Given the description of an element on the screen output the (x, y) to click on. 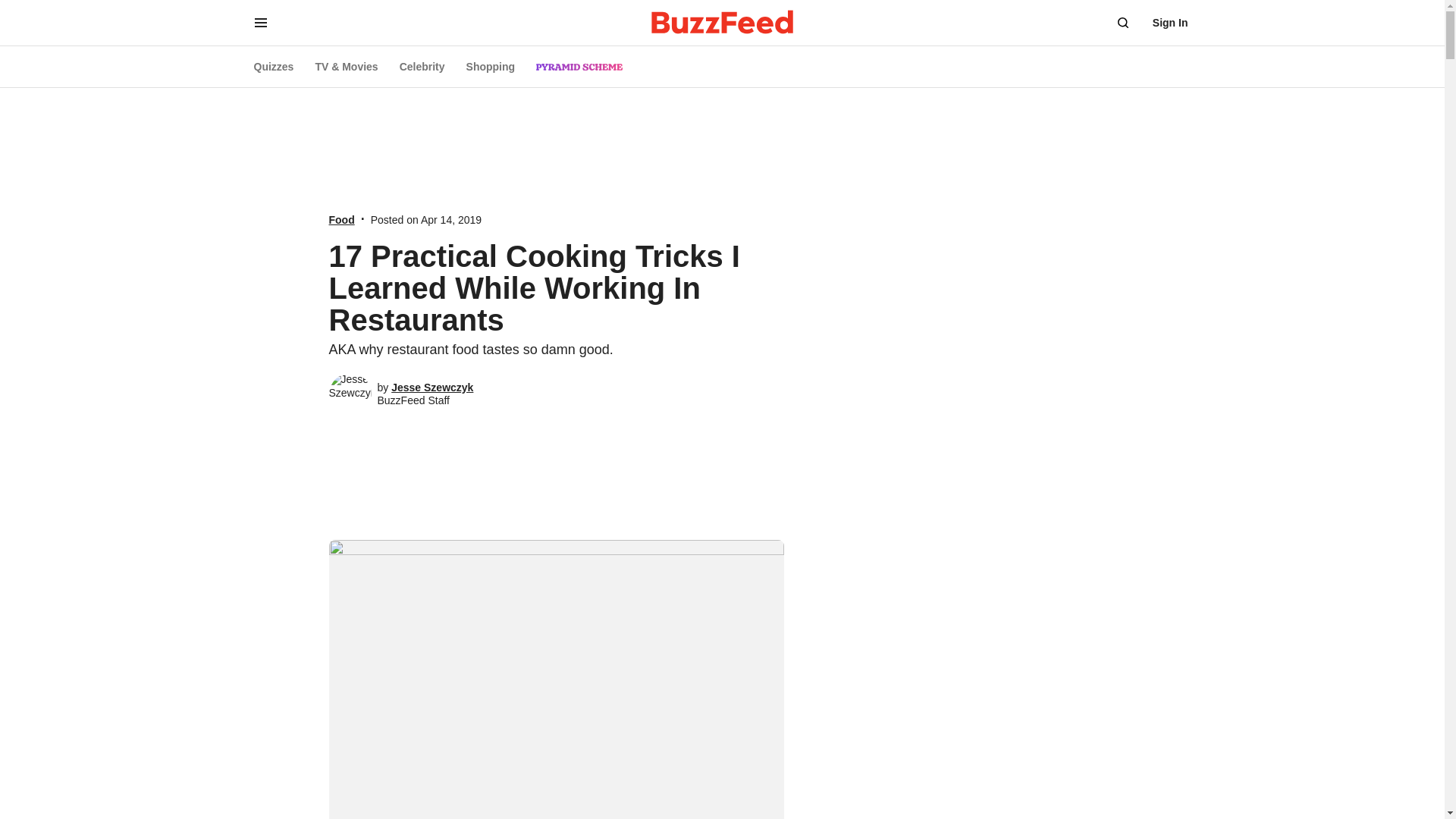
Sign In (1170, 22)
